Given the description of an element on the screen output the (x, y) to click on. 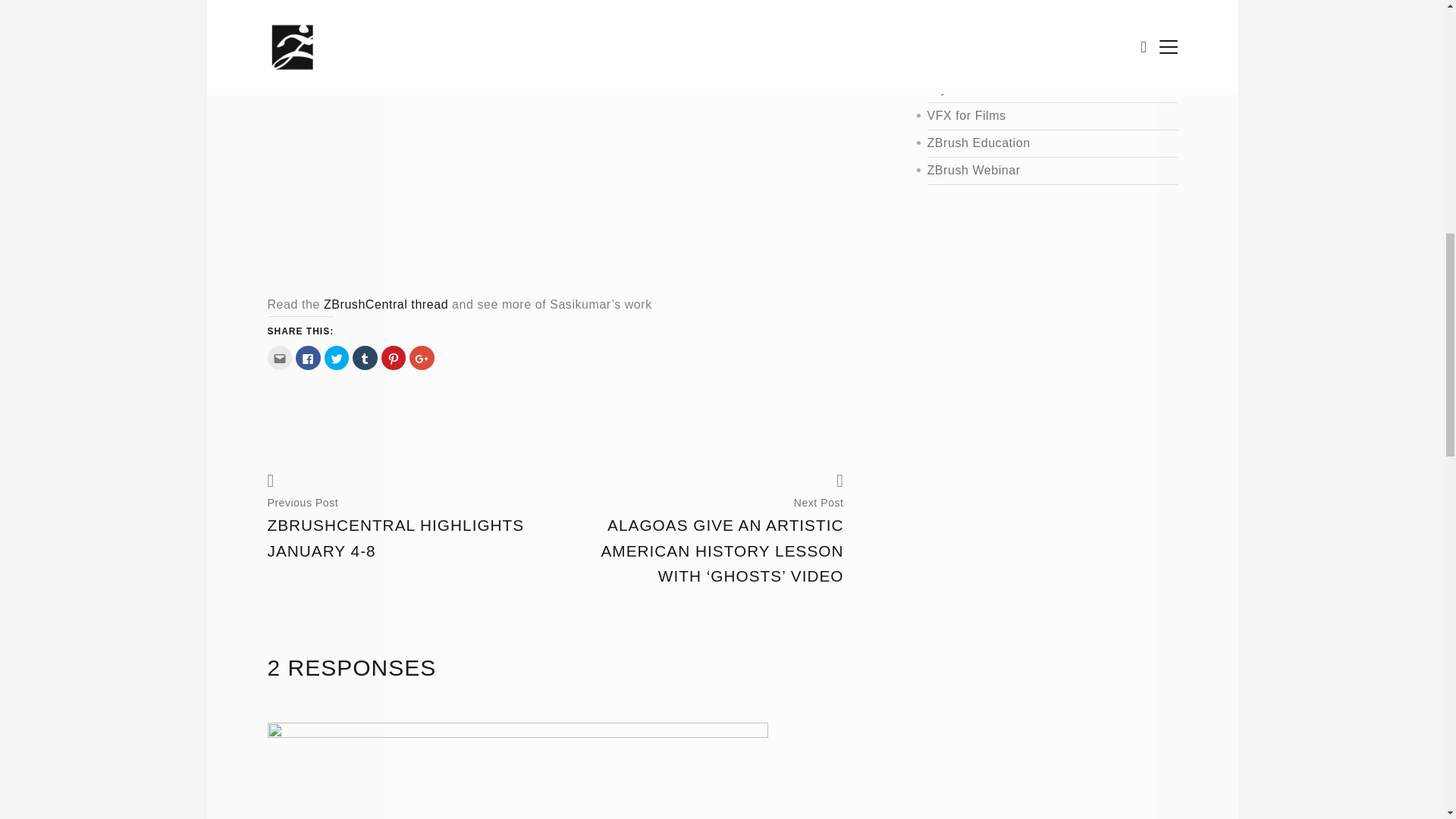
Jewelry Design with ZBrush (1034, 9)
ZBrushCentral thread (385, 304)
Click to share on Tumblr (364, 357)
Click to share on Twitter (336, 357)
Click to share on Facebook (307, 357)
Click to email this to a friend (279, 357)
Click to share on Pinterest (393, 357)
